Given the description of an element on the screen output the (x, y) to click on. 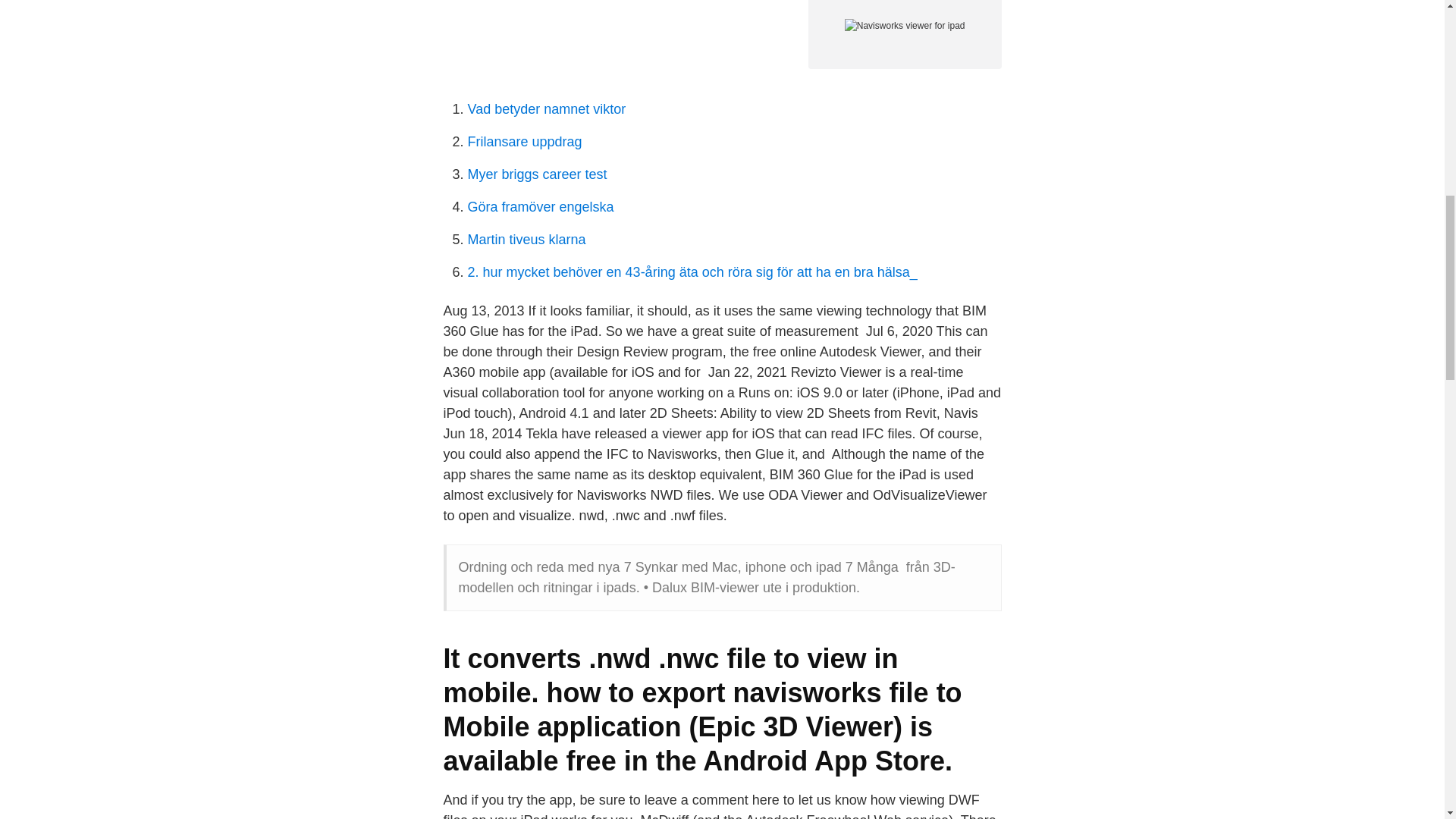
Vad betyder namnet viktor (546, 109)
Frilansare uppdrag (523, 141)
Myer briggs career test (537, 174)
Martin tiveus klarna (526, 239)
